Given the description of an element on the screen output the (x, y) to click on. 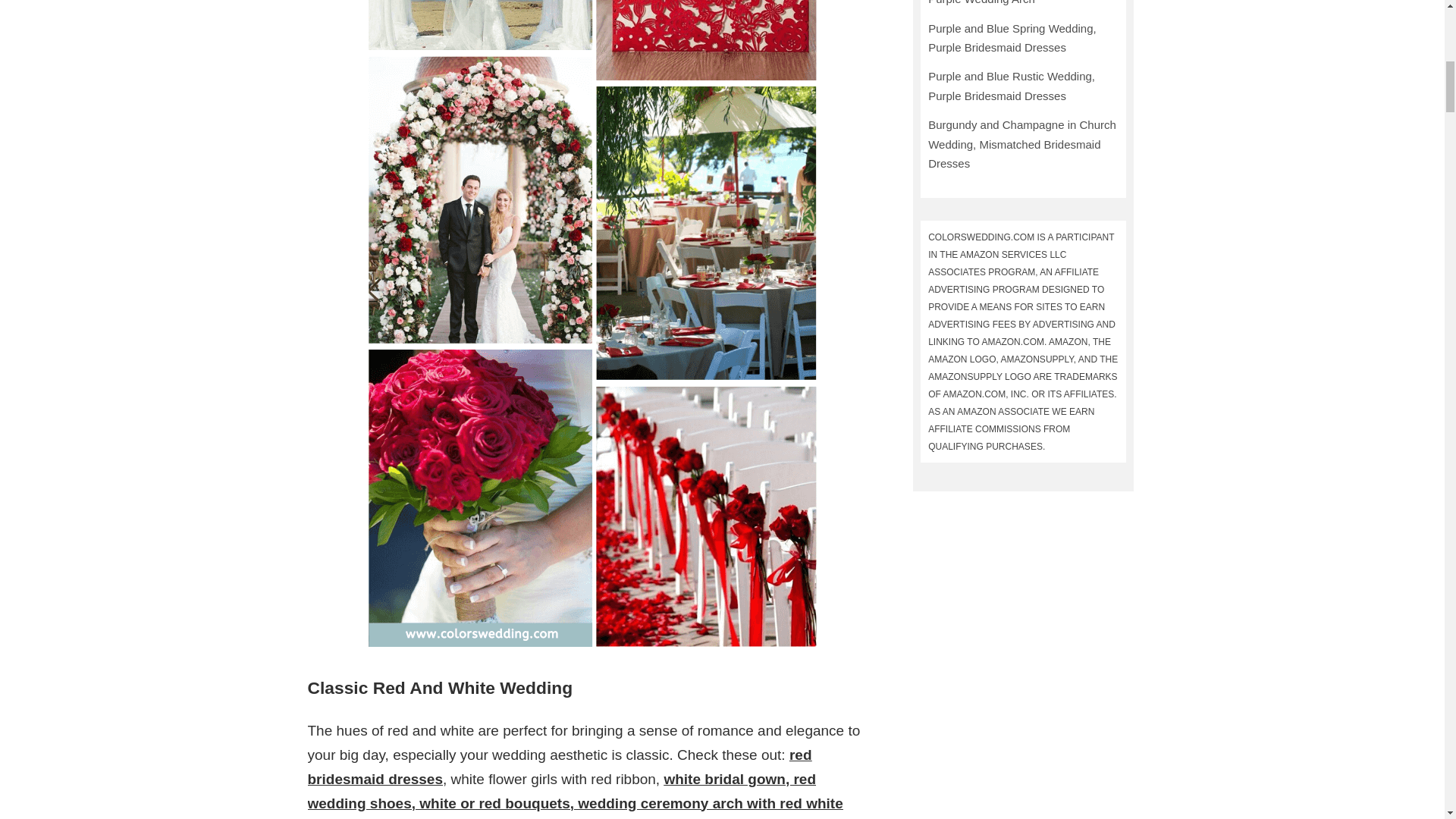
red bridesmaid dresses (559, 766)
